Given the description of an element on the screen output the (x, y) to click on. 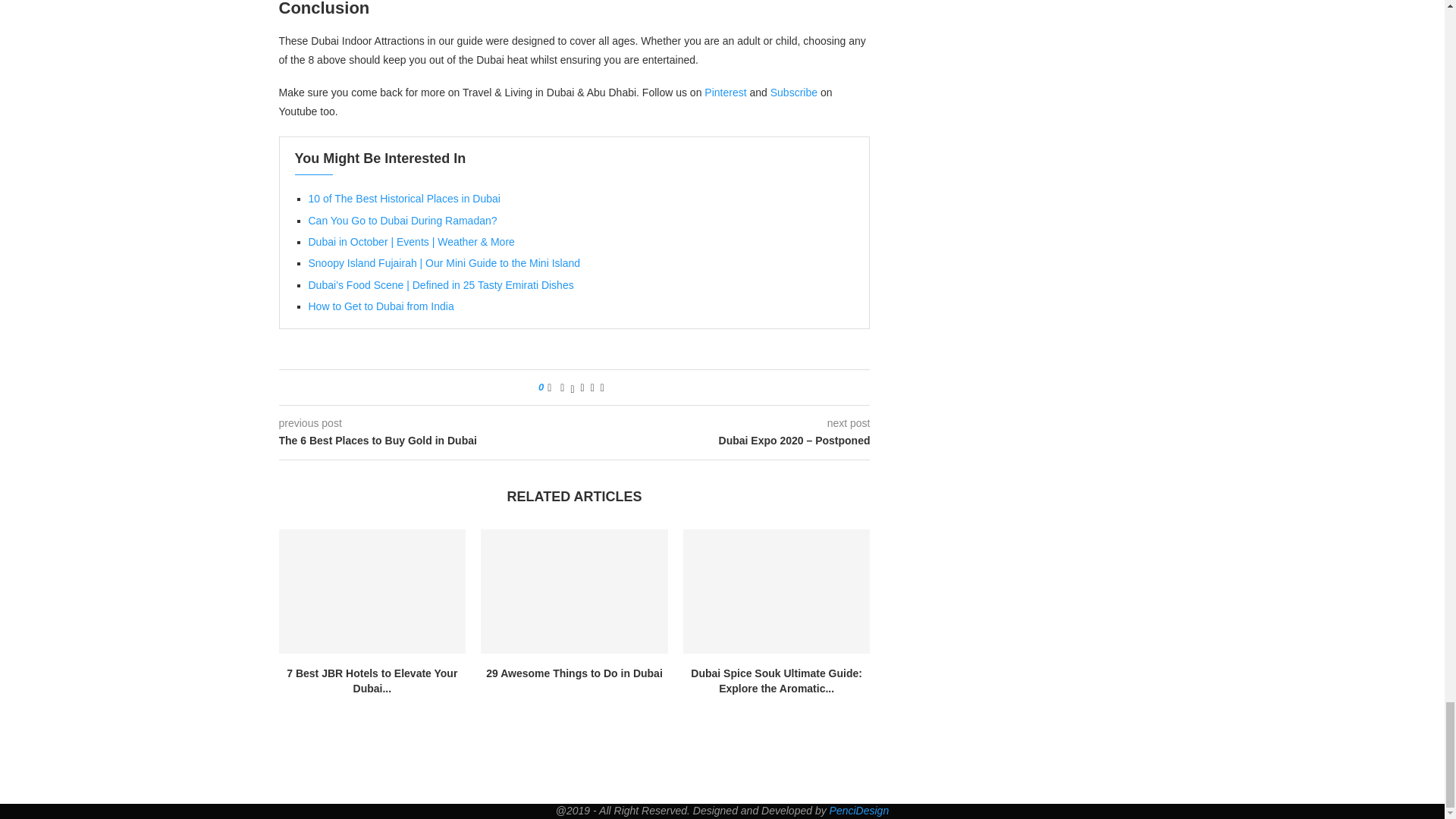
Pinterest (724, 92)
7 Best JBR Hotels to Elevate Your Dubai Vacation (372, 591)
Subscribe (793, 92)
Can You Go to Dubai During Ramadan? (401, 220)
How to Get to Dubai from India (379, 306)
29 Awesome Things to Do in Dubai (574, 591)
10 of The Best Historical Places in Dubai (403, 198)
